Given the description of an element on the screen output the (x, y) to click on. 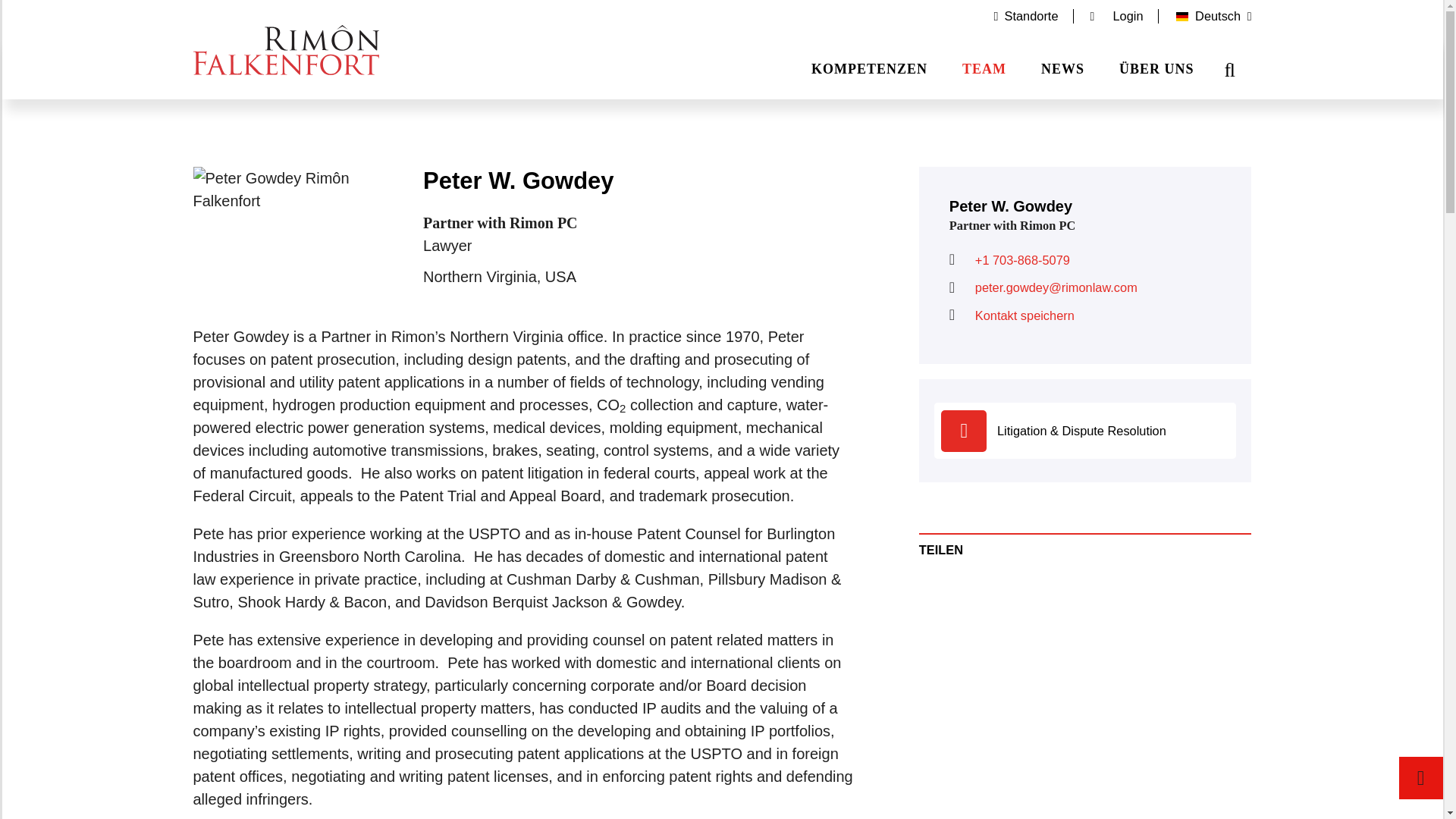
TEAM (984, 75)
NEWS (1062, 75)
KOMPETENZEN (868, 75)
zum Login- und Registrierungsformular (1116, 16)
Zur Startseite (285, 49)
Login (1116, 16)
Deutsch (1206, 16)
Standorte (1026, 16)
Kompetenzen (868, 75)
0 (1419, 777)
